Given the description of an element on the screen output the (x, y) to click on. 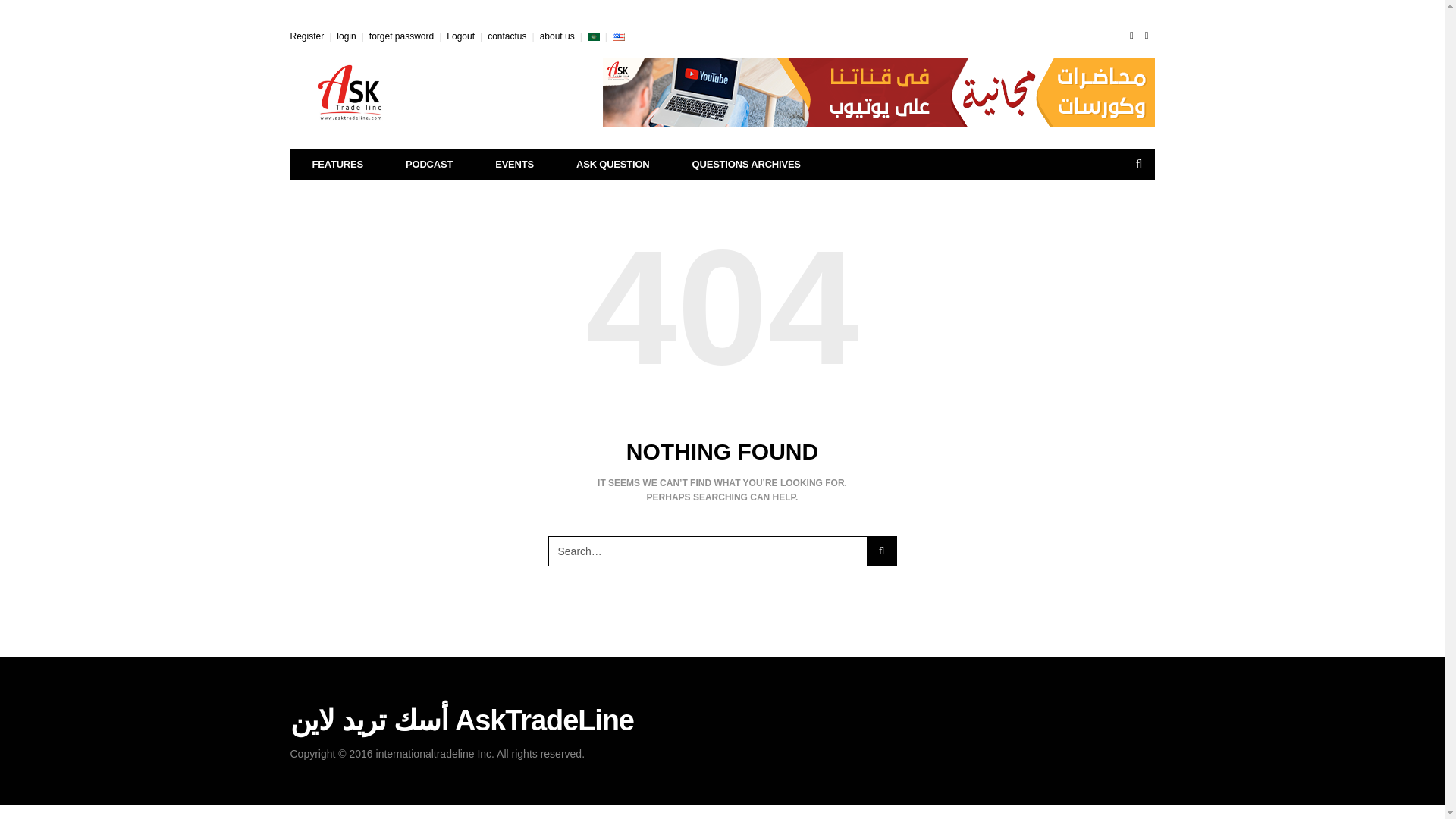
Logout (460, 36)
PODCAST (429, 164)
QUESTIONS ARCHIVES (746, 164)
login (345, 36)
Search for: (706, 551)
FEATURES (338, 164)
ASK QUESTION (612, 164)
Register (306, 36)
Facebook (1131, 34)
contactus (506, 36)
English (618, 36)
about us (557, 36)
forget password (401, 36)
EVENTS (514, 164)
Youtube (1146, 34)
